Given the description of an element on the screen output the (x, y) to click on. 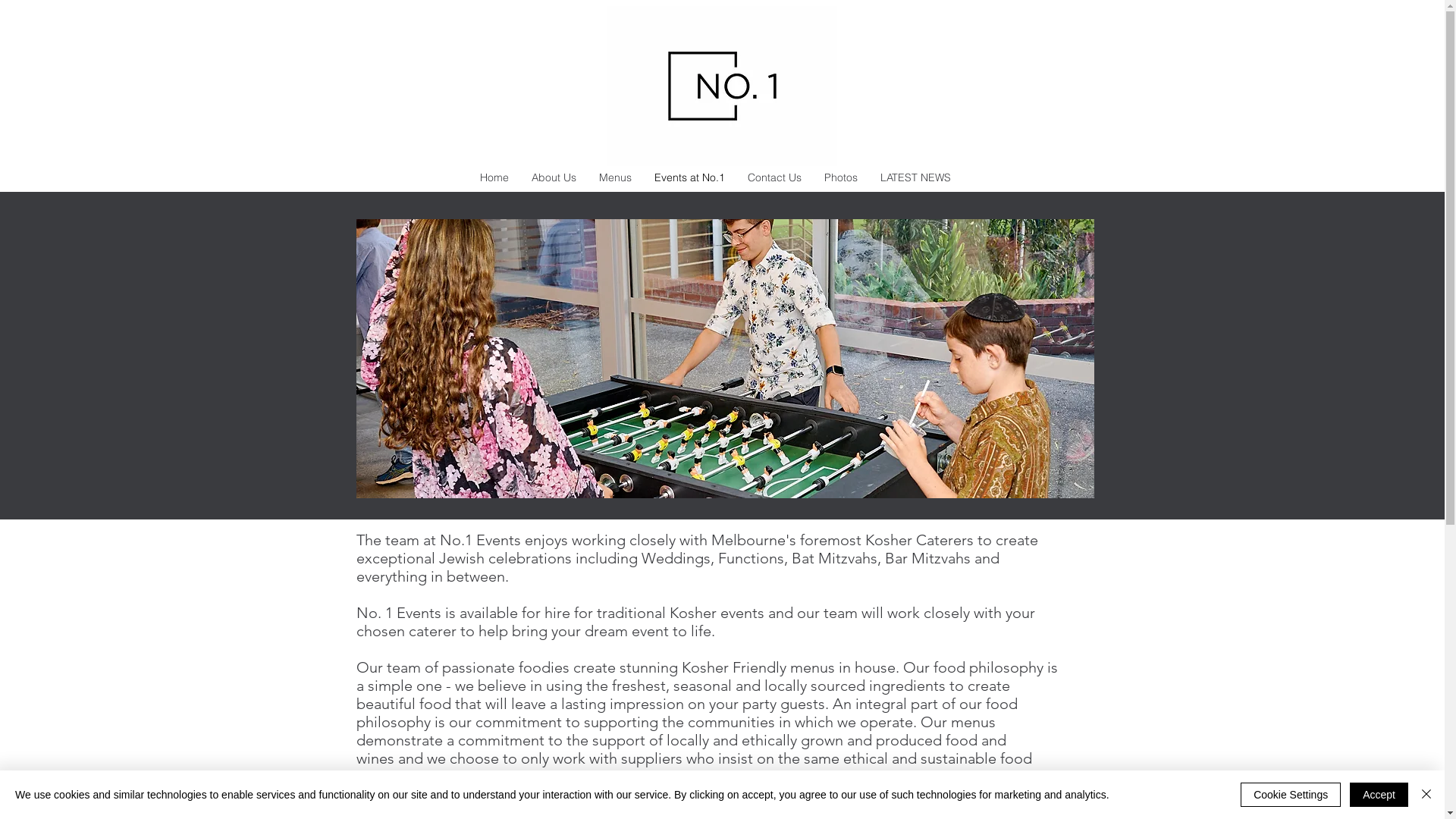
Photos Element type: text (840, 177)
Home Element type: text (494, 177)
LATEST NEWS Element type: text (915, 177)
Accept Element type: text (1378, 794)
Menus Element type: text (614, 177)
About Us Element type: text (553, 177)
Events at No.1 Element type: text (689, 177)
Cookie Settings Element type: text (1290, 794)
Contact Us Element type: text (773, 177)
